Given the description of an element on the screen output the (x, y) to click on. 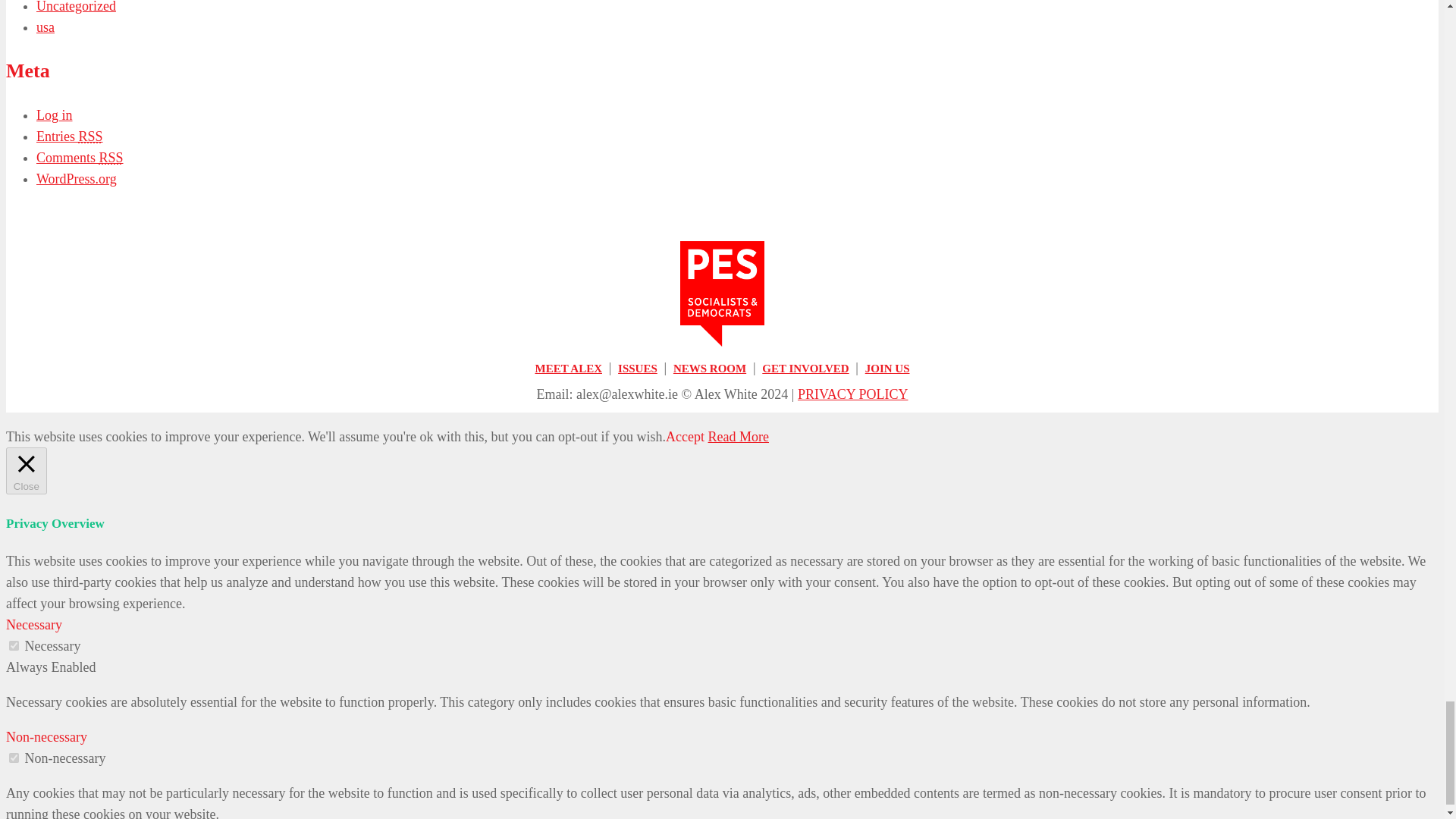
Really Simple Syndication (90, 136)
Really Simple Syndication (111, 157)
on (13, 757)
on (13, 645)
